Given the description of an element on the screen output the (x, y) to click on. 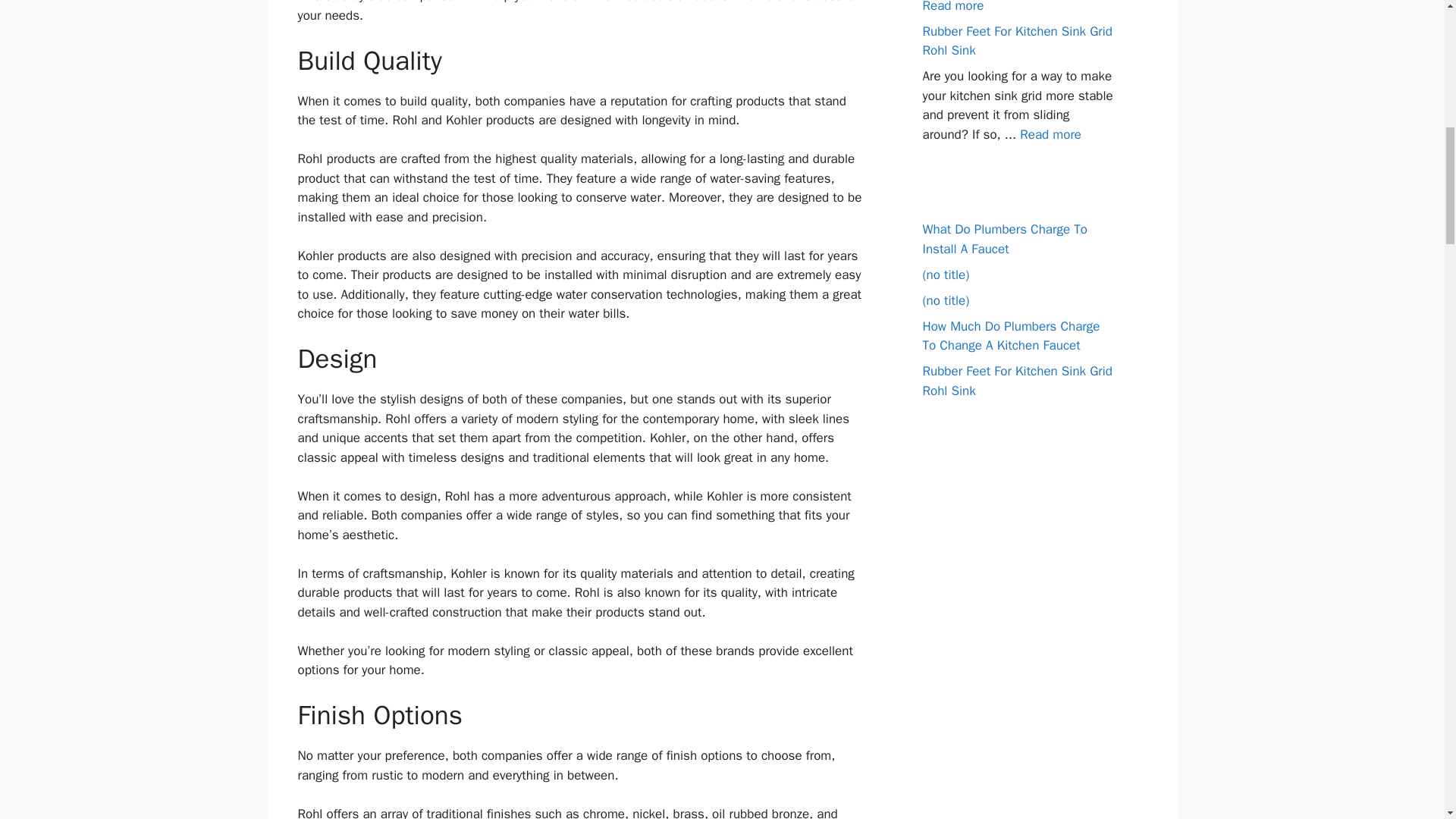
Rubber Feet For Kitchen Sink Grid Rohl Sink (1016, 40)
Read more (952, 6)
What Do Plumbers Charge To Install A Faucet (1003, 239)
Read more (1050, 133)
